Given the description of an element on the screen output the (x, y) to click on. 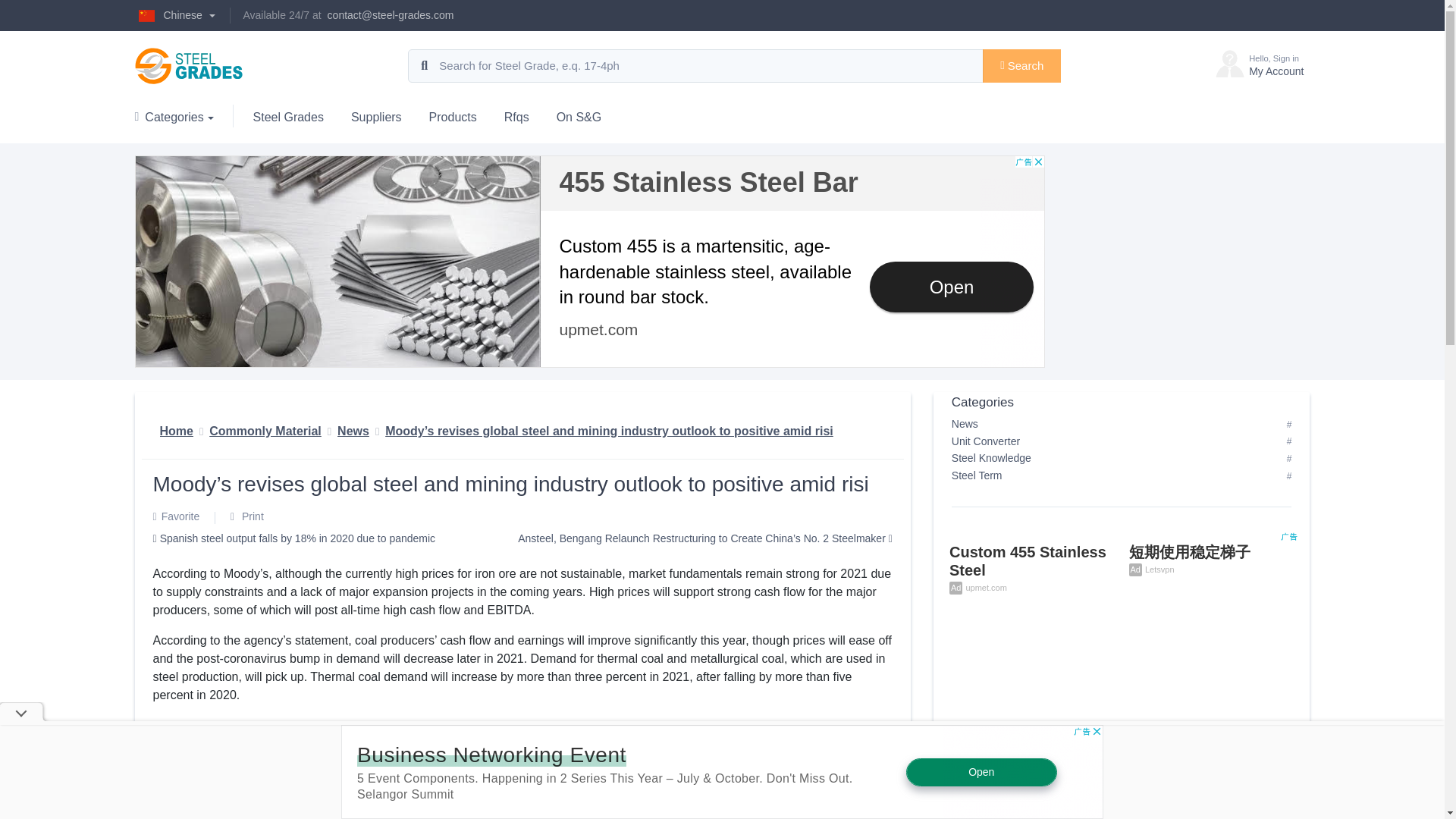
Chinese (1259, 65)
Categories (175, 15)
Search (181, 116)
